Given the description of an element on the screen output the (x, y) to click on. 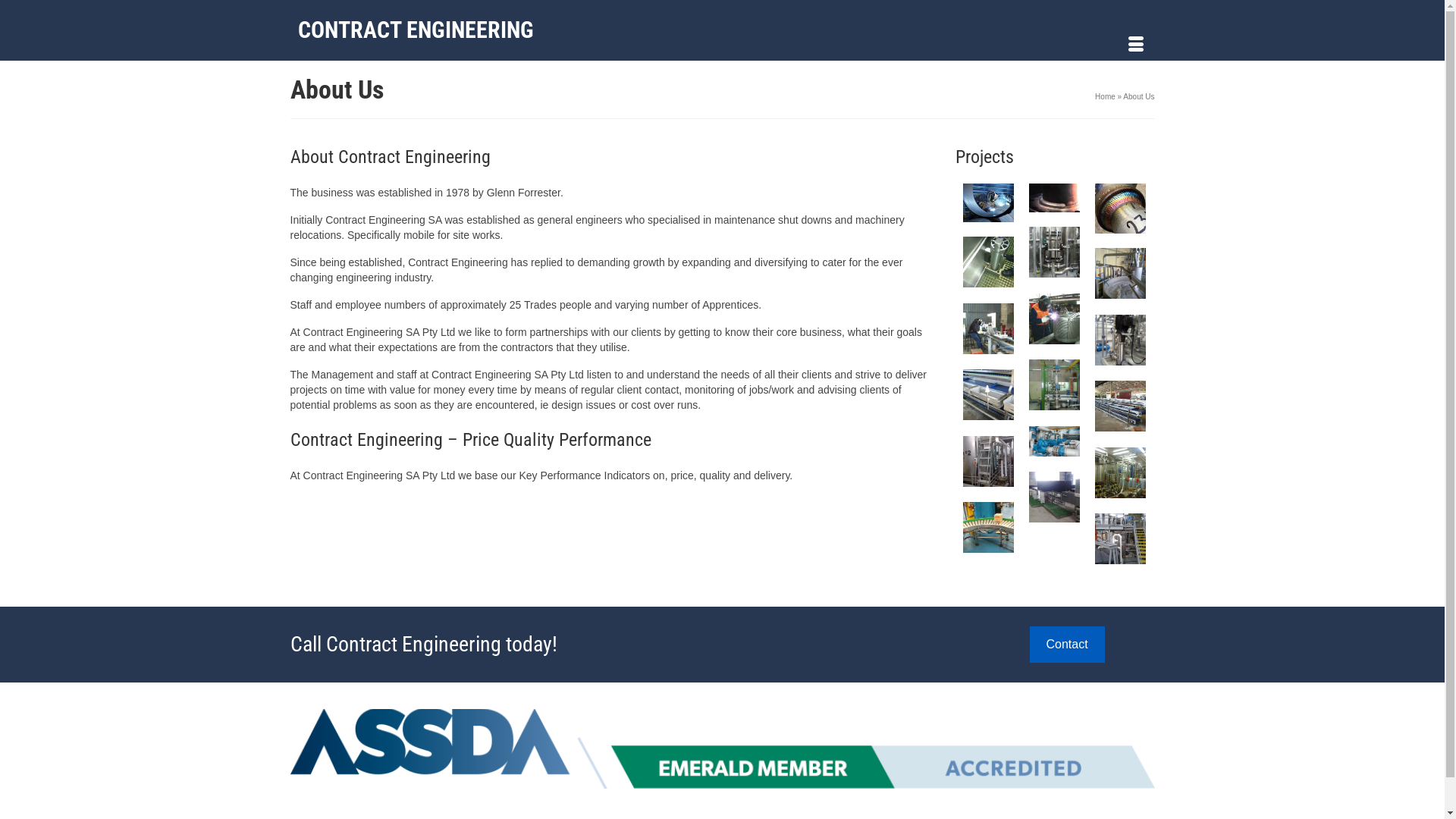
Home Element type: text (1105, 96)
Contact Element type: text (1066, 644)
Menu Element type: hover (1135, 45)
CONTRACT ENGINEERING Element type: text (425, 30)
